Given the description of an element on the screen output the (x, y) to click on. 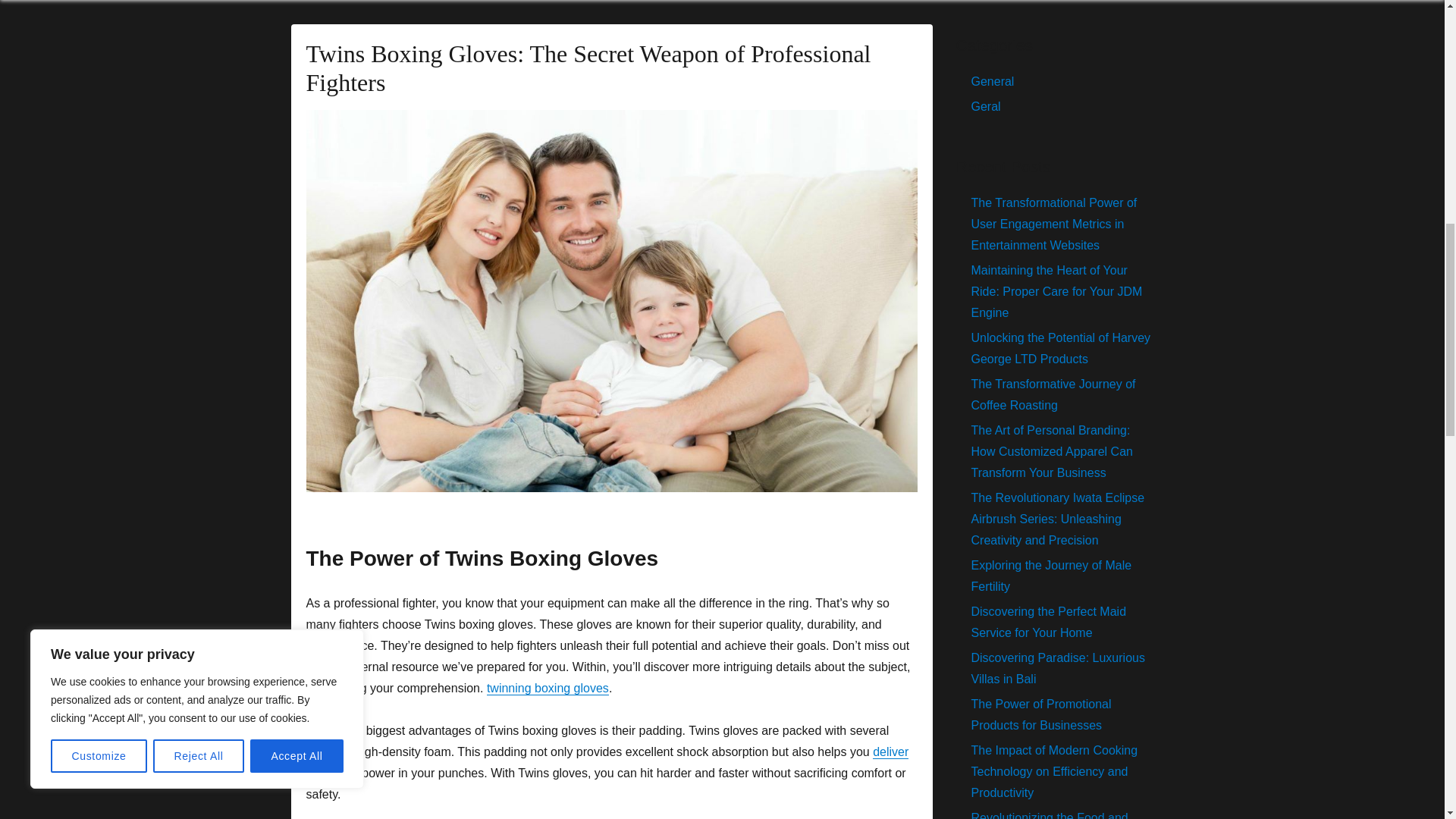
Geral (985, 106)
Unlocking the Potential of Harvey George LTD Products (1060, 348)
The Transformative Journey of Coffee Roasting (1053, 394)
deliver (890, 751)
General (992, 81)
twinning boxing gloves (547, 687)
